Given the description of an element on the screen output the (x, y) to click on. 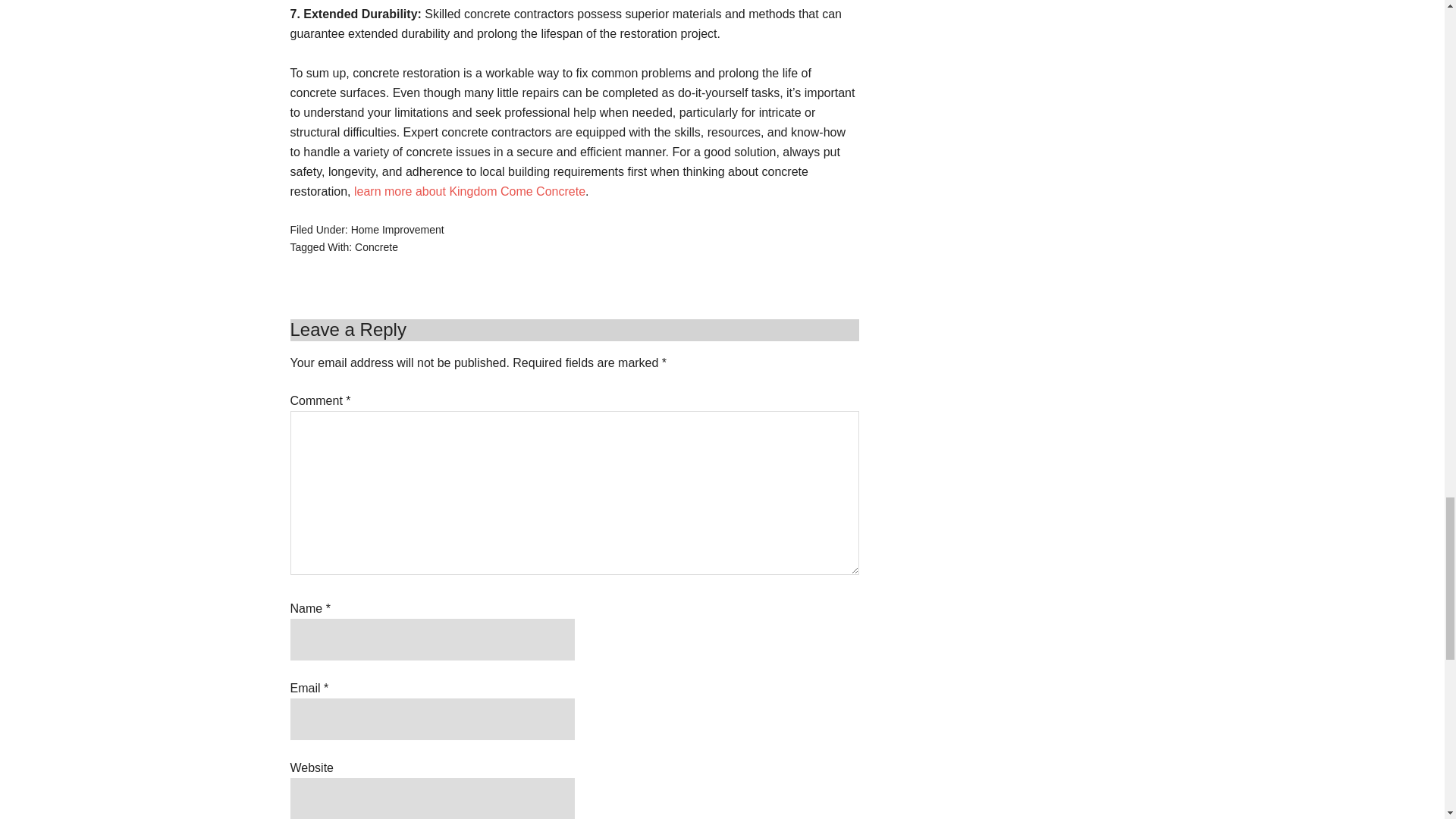
learn more about Kingdom Come Concrete (469, 191)
Concrete (376, 246)
Home Improvement (397, 229)
